Given the description of an element on the screen output the (x, y) to click on. 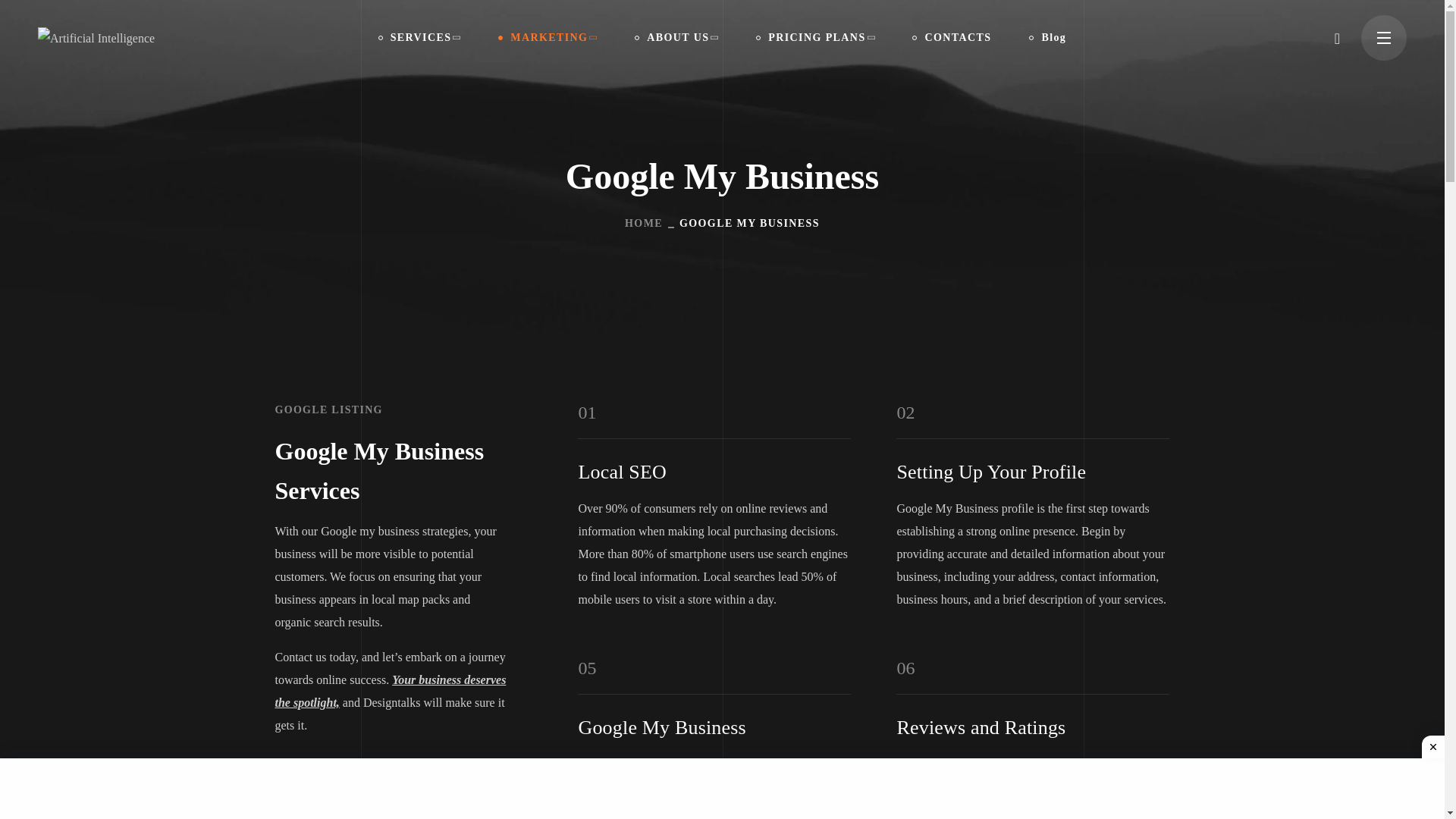
MARKETING (547, 38)
ABOUT US (675, 38)
CONTACTS (951, 38)
SERVICES (419, 38)
Blog (1047, 38)
PRICING PLANS (814, 38)
